Given the description of an element on the screen output the (x, y) to click on. 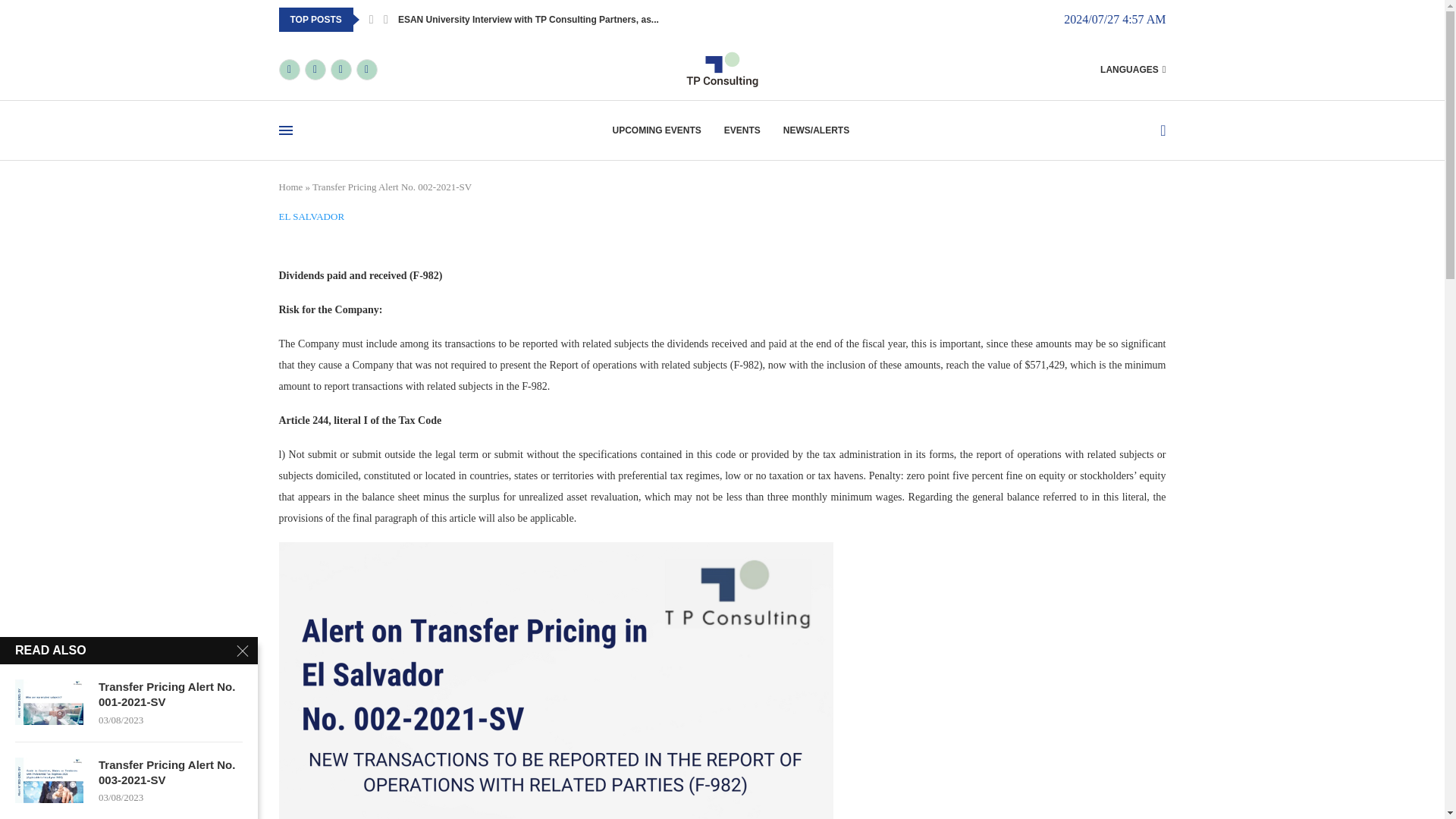
Transfer Pricing Alert No. 003-2021-SV (48, 779)
Transfer Pricing Alert No. 001-2021-SV (48, 701)
ESAN University Interview with TP Consulting Partners, as... (528, 19)
